Given the description of an element on the screen output the (x, y) to click on. 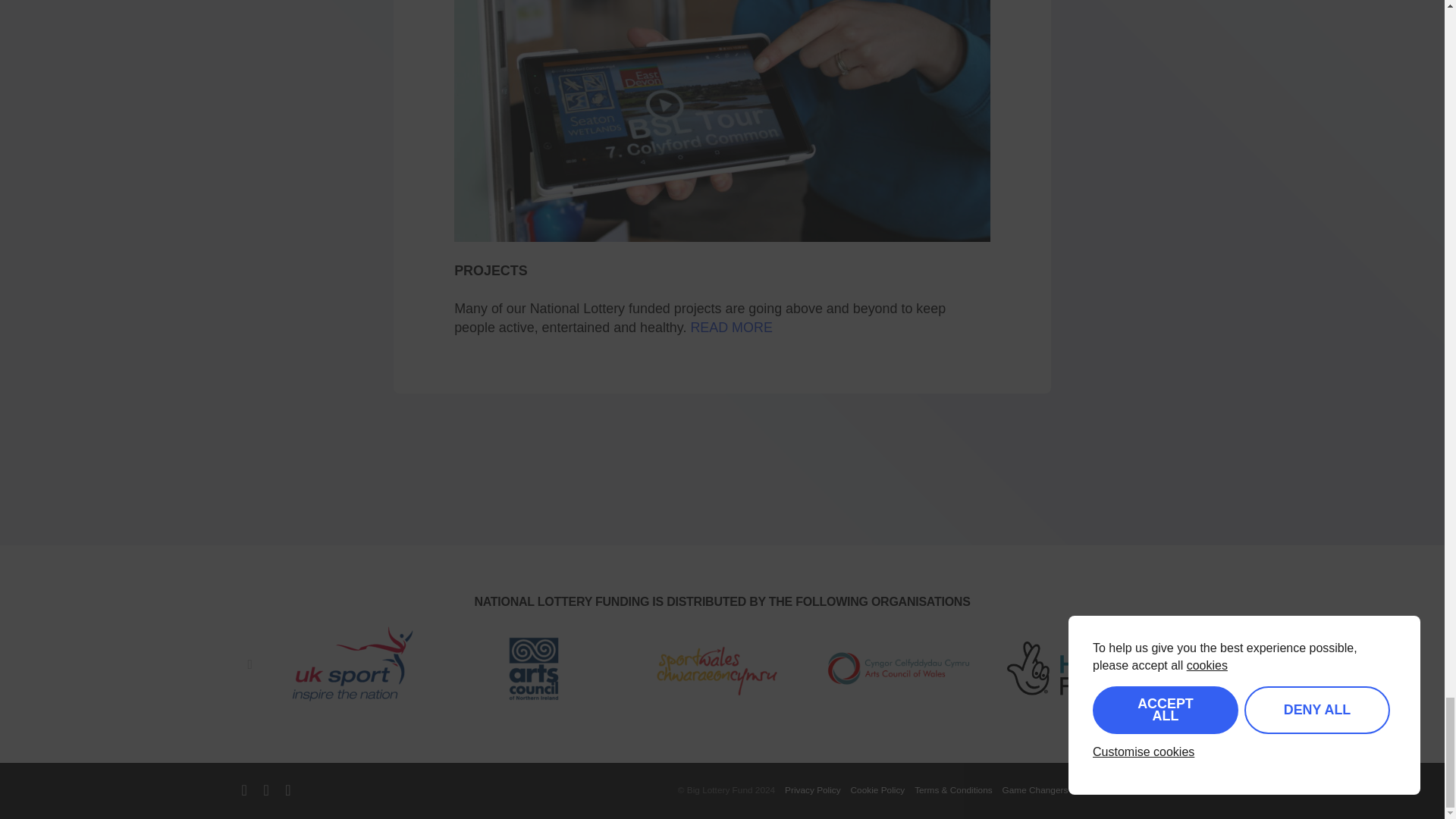
Instagram (287, 788)
Twitter (243, 788)
Facebook (265, 788)
